Given the description of an element on the screen output the (x, y) to click on. 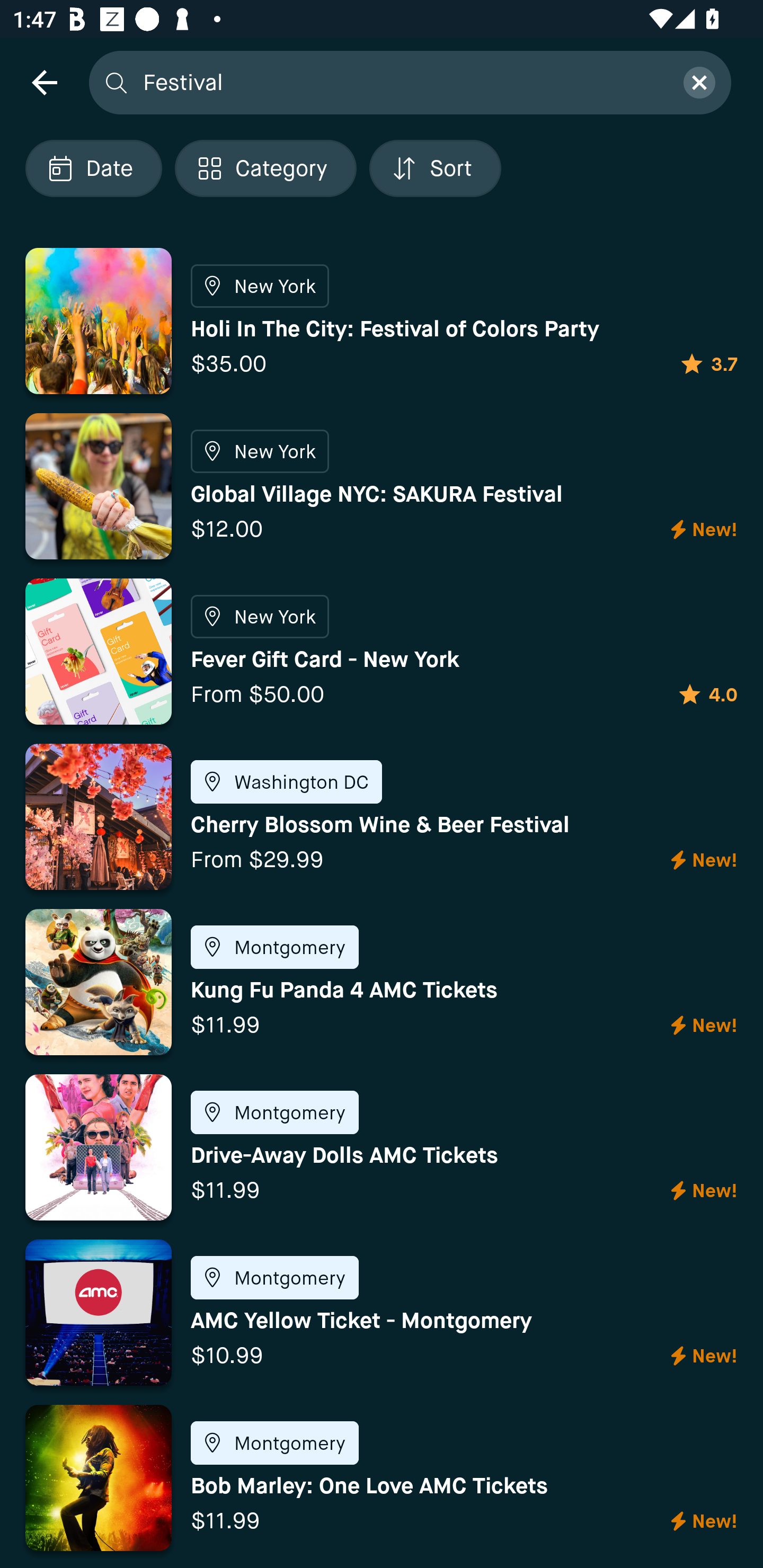
navigation icon (44, 81)
Festival (402, 81)
Localized description Date (93, 168)
Localized description Category (265, 168)
Localized description Sort (435, 168)
